Given the description of an element on the screen output the (x, y) to click on. 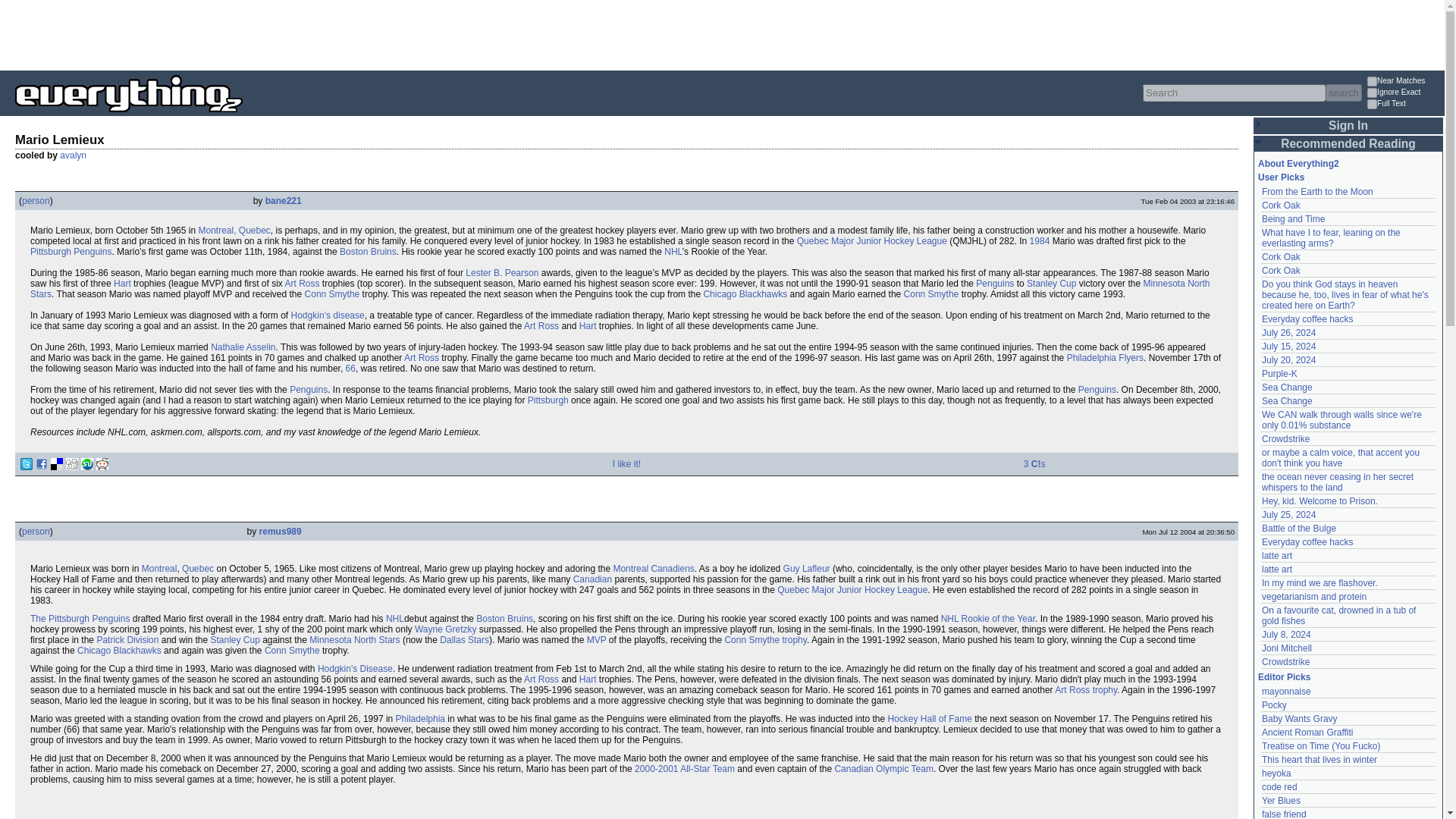
Search within Everything2 (1342, 92)
1 (1372, 92)
person (35, 200)
search (1342, 92)
Everything (242, 117)
Conn Smythe (331, 294)
Pittsburgh (548, 399)
Lester B. Pearson (501, 272)
Search for text within writeups (1404, 104)
Penguins (1097, 389)
NHL (672, 251)
bane221 (282, 200)
1984 (1039, 240)
NHL (672, 251)
Quebec Major Junior Hockey League (871, 240)
